Given the description of an element on the screen output the (x, y) to click on. 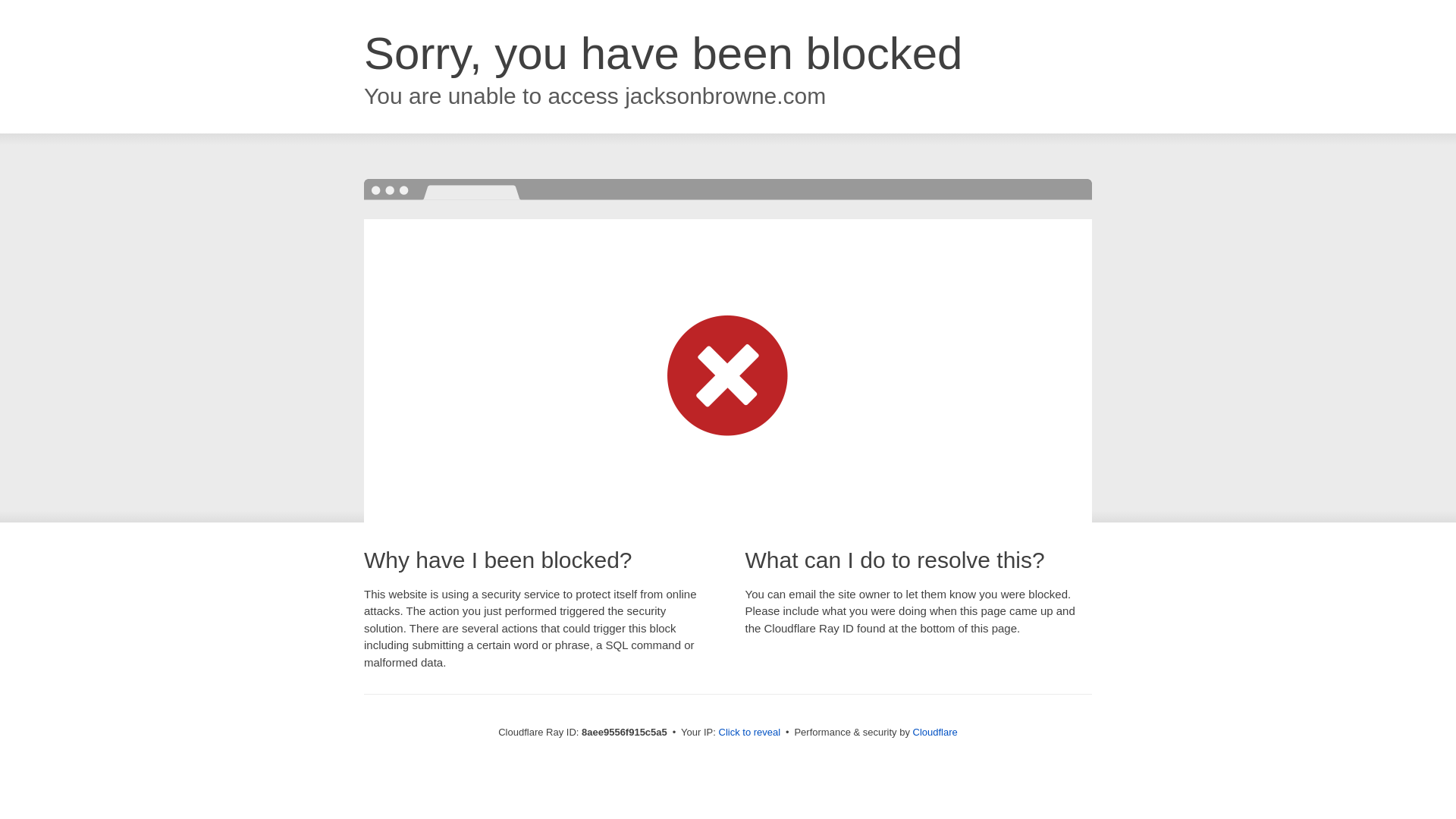
Cloudflare (935, 731)
Click to reveal (749, 732)
